Given the description of an element on the screen output the (x, y) to click on. 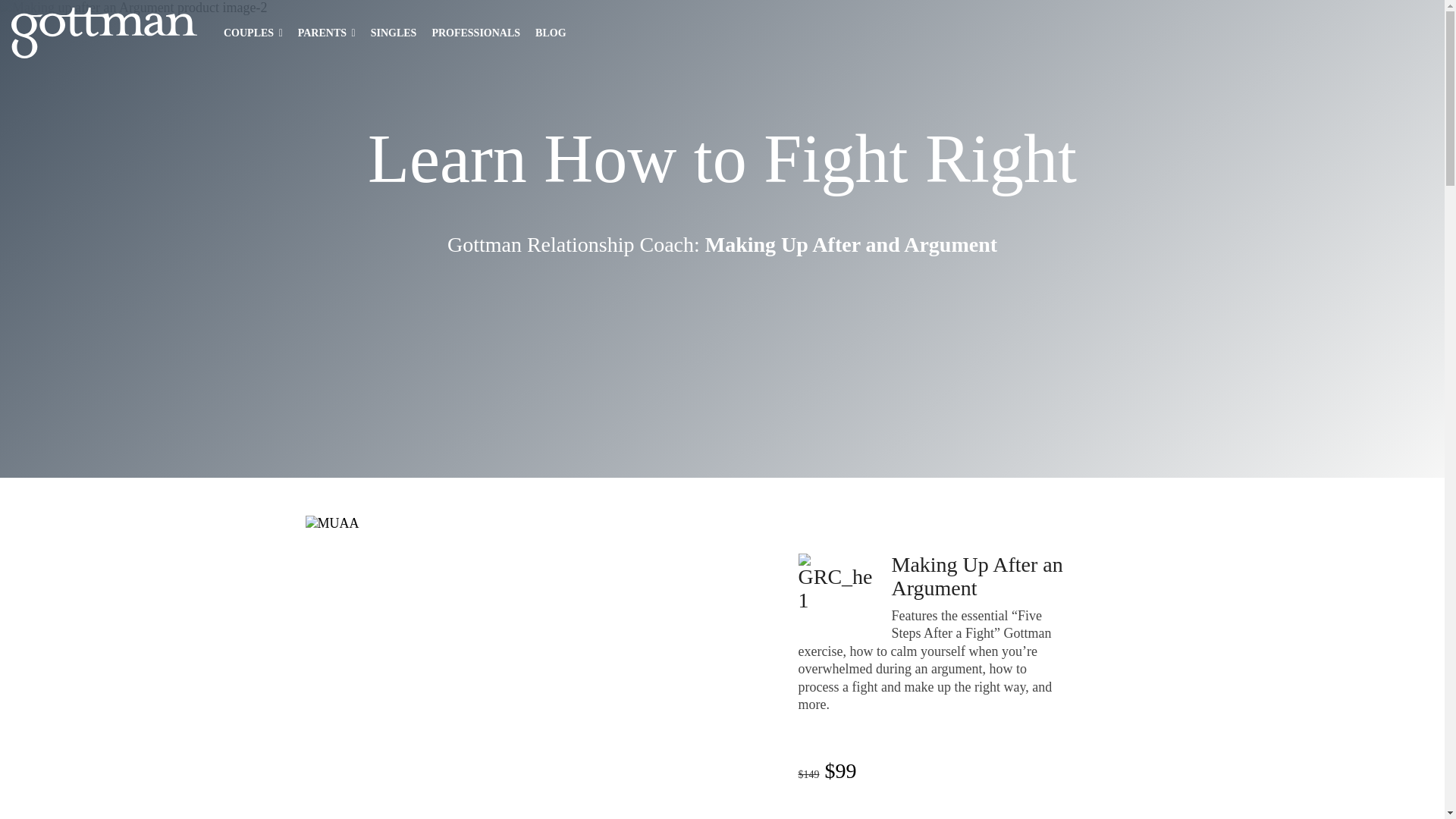
SINGLES (393, 33)
COUPLES (253, 33)
New Gottman Logo from eps (103, 32)
PROFESSIONALS (474, 33)
BLOG (550, 33)
PARENTS (326, 33)
